Given the description of an element on the screen output the (x, y) to click on. 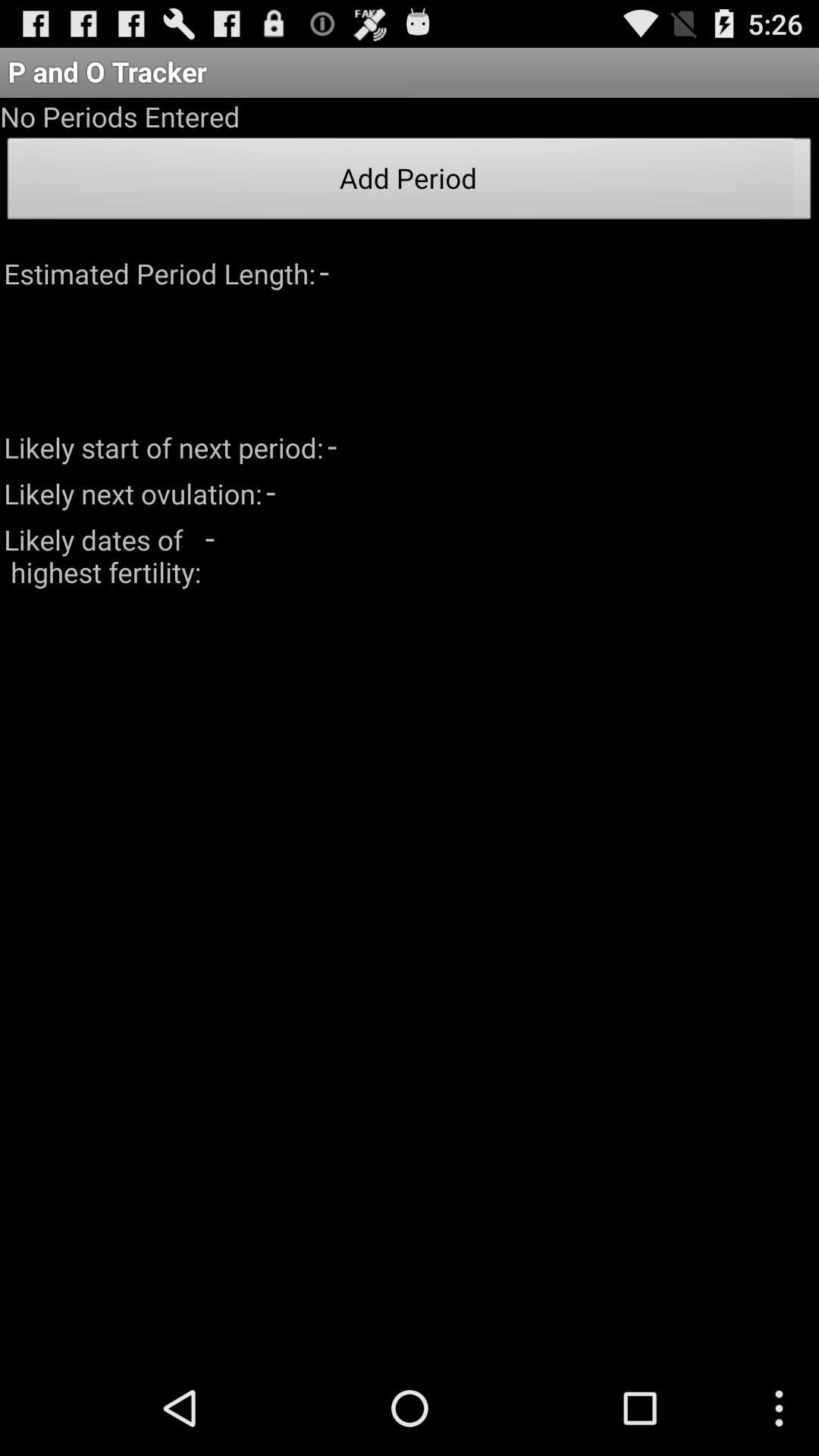
turn on the icon above the - (409, 182)
